Given the description of an element on the screen output the (x, y) to click on. 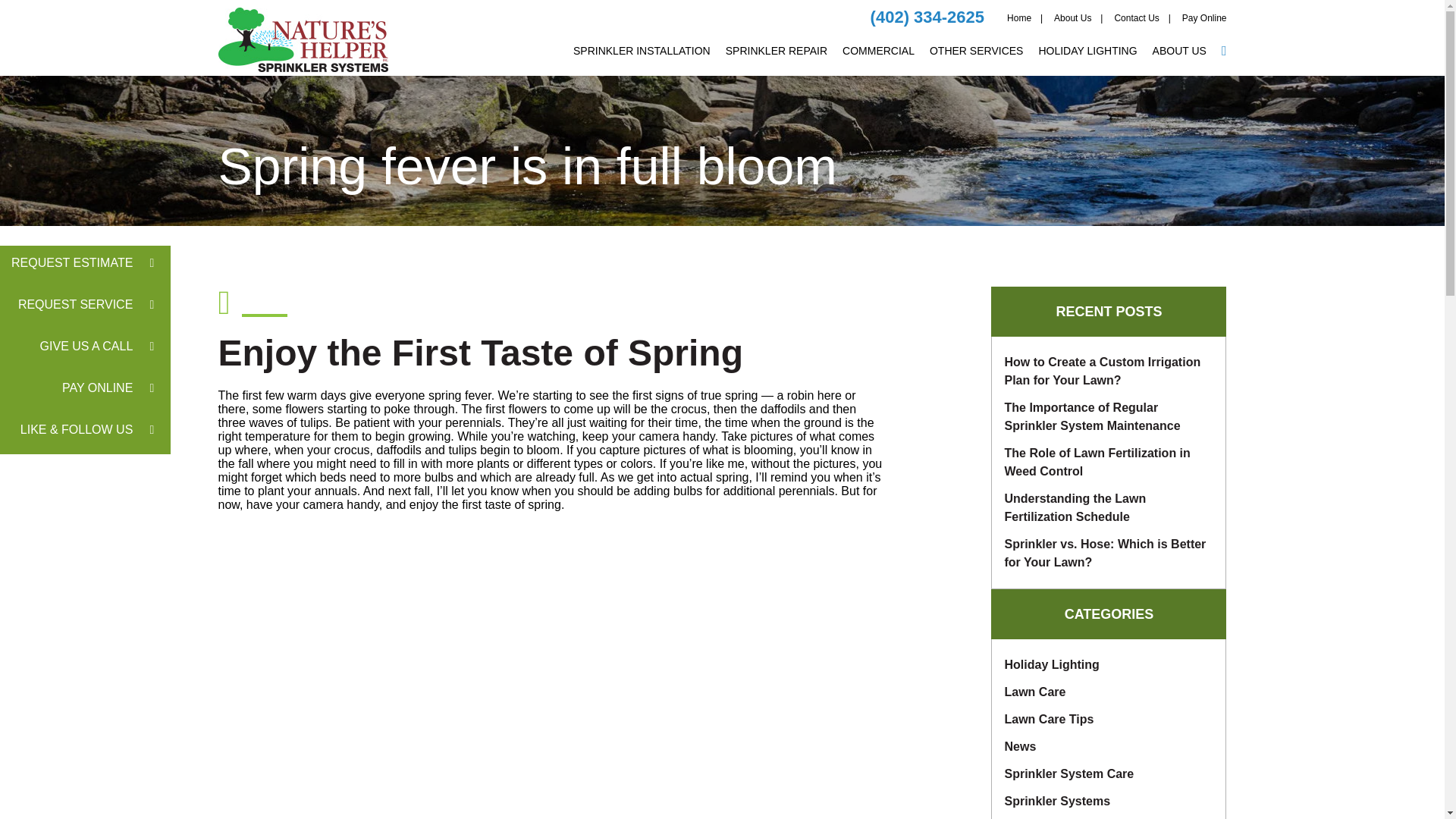
SPRINKLER INSTALLATION (641, 60)
About Us (1072, 27)
COMMERCIAL (878, 60)
Contact Us (1135, 27)
HOLIDAY LIGHTING (1087, 60)
SPRINKLER REPAIR (776, 60)
Home (1018, 27)
Pay Online (1204, 27)
OTHER SERVICES (976, 60)
ABOUT US (1180, 60)
